Given the description of an element on the screen output the (x, y) to click on. 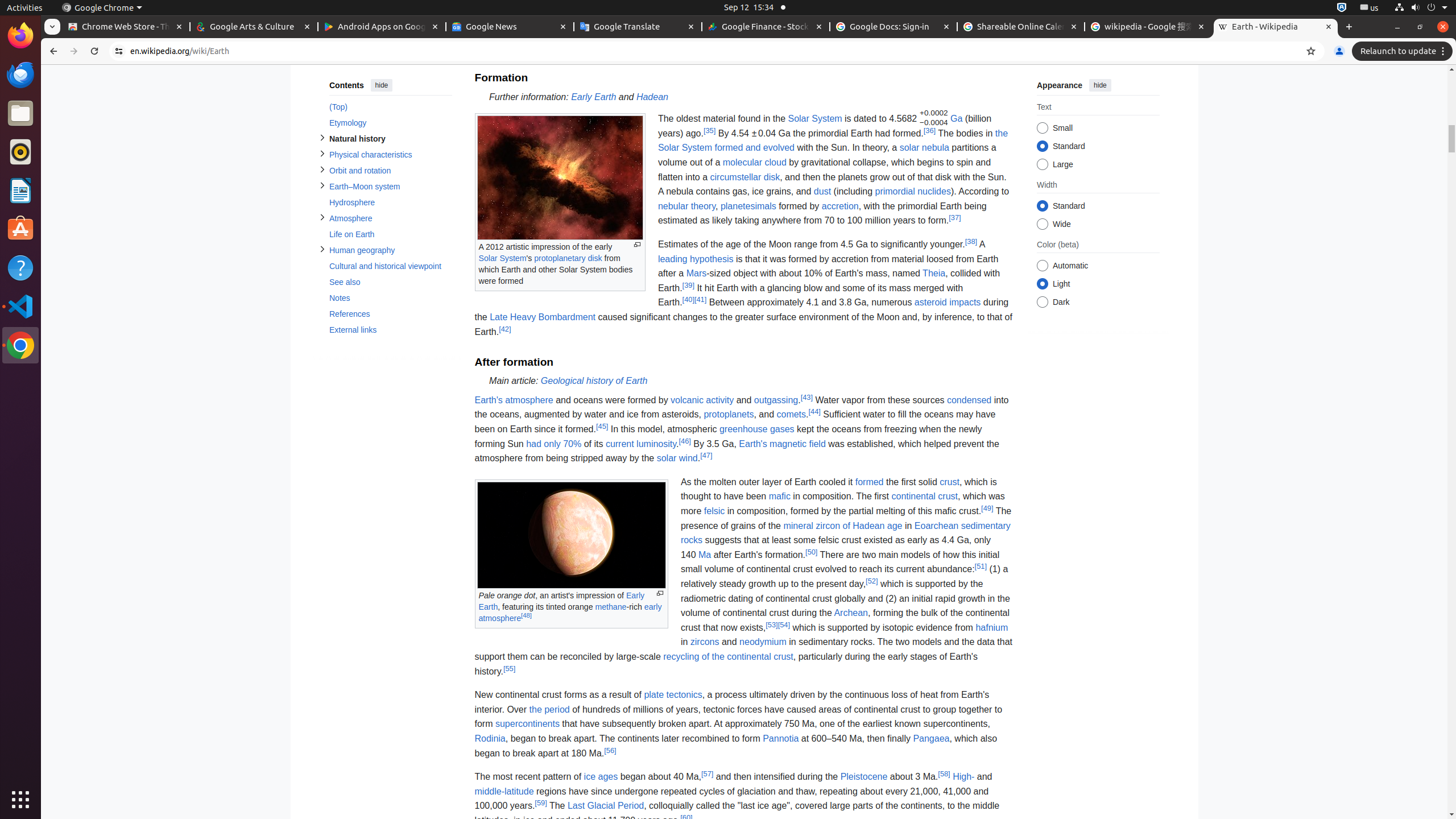
Forward Element type: push-button (73, 50)
Earth's atmosphere Element type: link (513, 399)
continental crust Element type: link (924, 496)
[44] Element type: link (814, 411)
[35] Element type: link (709, 129)
